Given the description of an element on the screen output the (x, y) to click on. 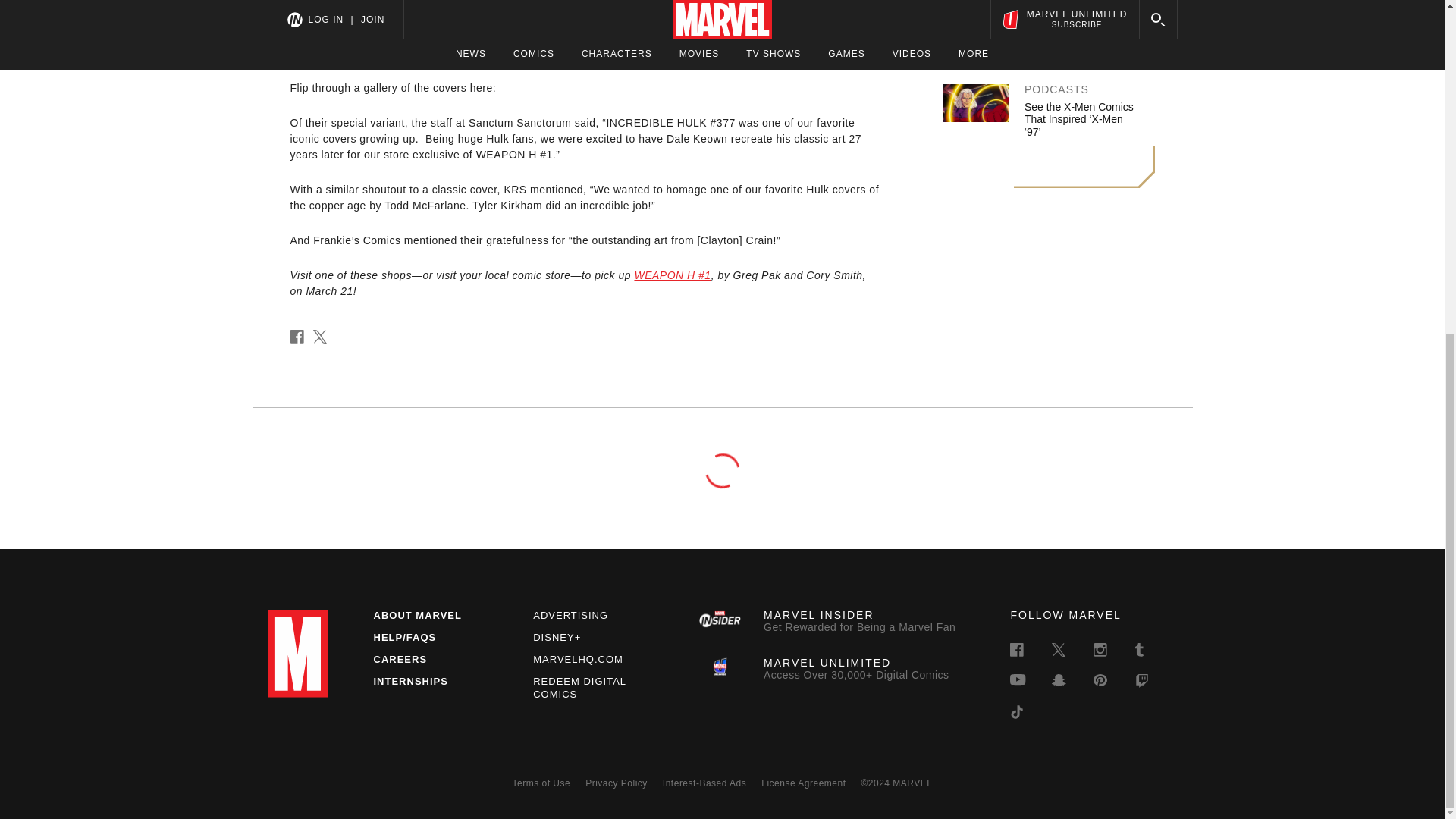
July 31's New Marvel Comics: The Full List (1074, 25)
Cory Smith (548, 37)
WEAPON H (319, 4)
Greg Pak (442, 37)
KRS Comics (845, 52)
Unknown Comics (741, 52)
